Given the description of an element on the screen output the (x, y) to click on. 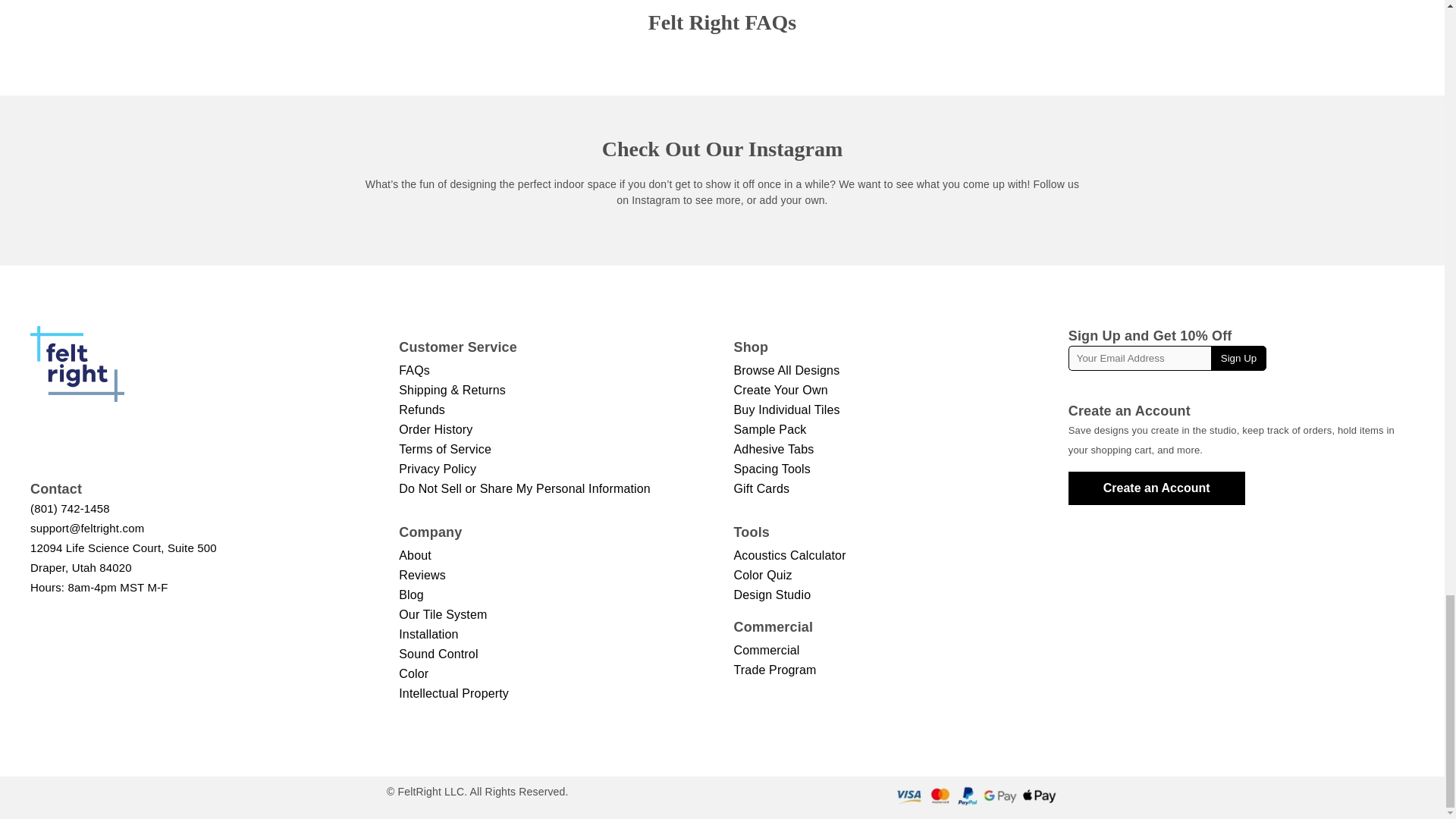
Refunds (421, 410)
Privacy Policy (437, 469)
Color Quiz (762, 575)
Sample Pack (769, 429)
FAQs (413, 370)
Spacing Tools (123, 557)
Browse All Designs (771, 469)
Do Not Sell or Share My Personal Information (786, 370)
Gift Cards (524, 488)
Buy Individual Tiles (761, 488)
Intellectual Property (786, 410)
Sound Control (453, 693)
Acoustics Calculator (437, 654)
Reviews (789, 556)
